Given the description of an element on the screen output the (x, y) to click on. 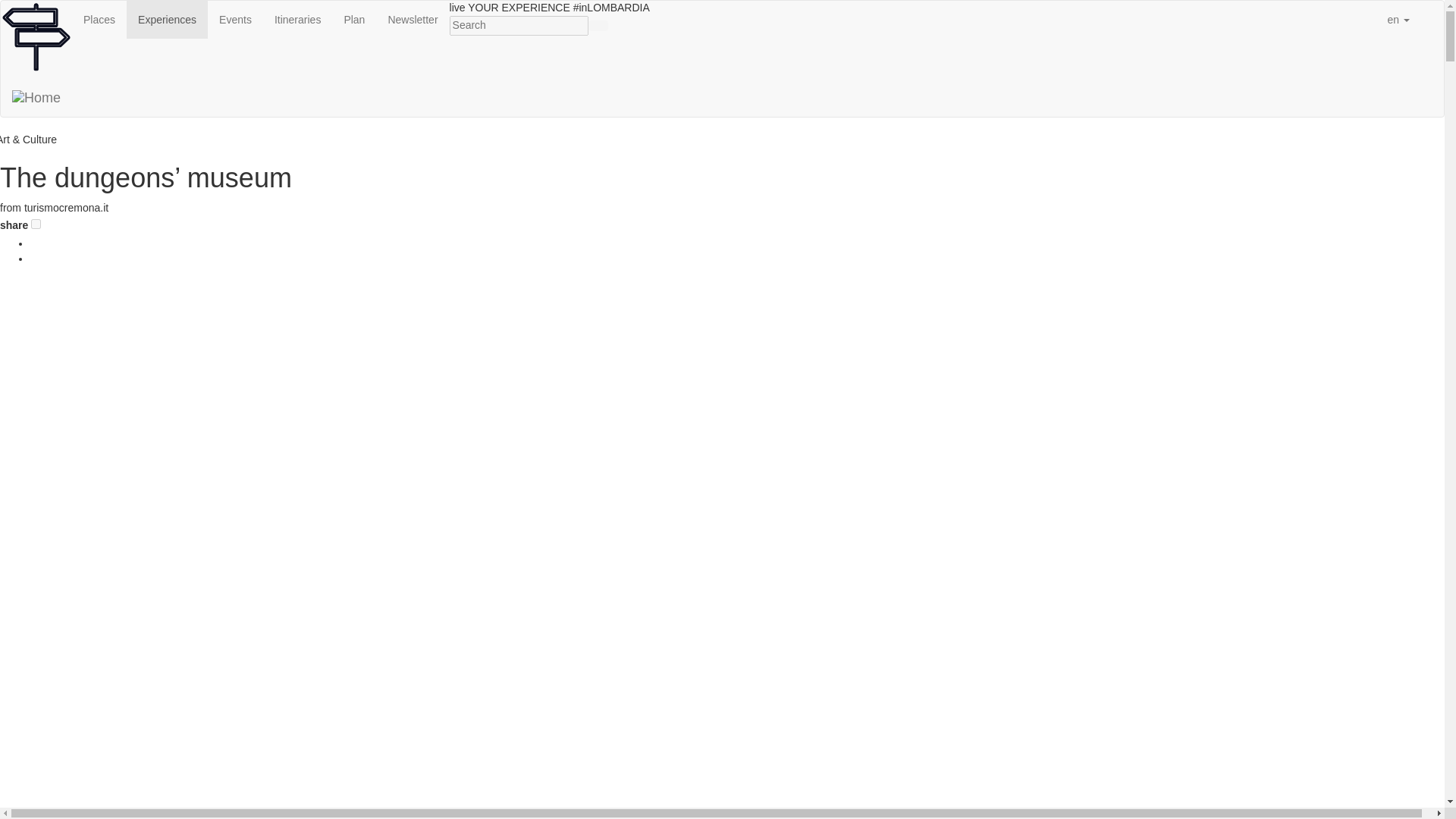
Home (36, 97)
Places (98, 19)
Plan (353, 19)
Itineraries (297, 19)
Newsletter (411, 19)
Experiences (167, 19)
Events (235, 19)
on (35, 223)
en (1398, 19)
